Given the description of an element on the screen output the (x, y) to click on. 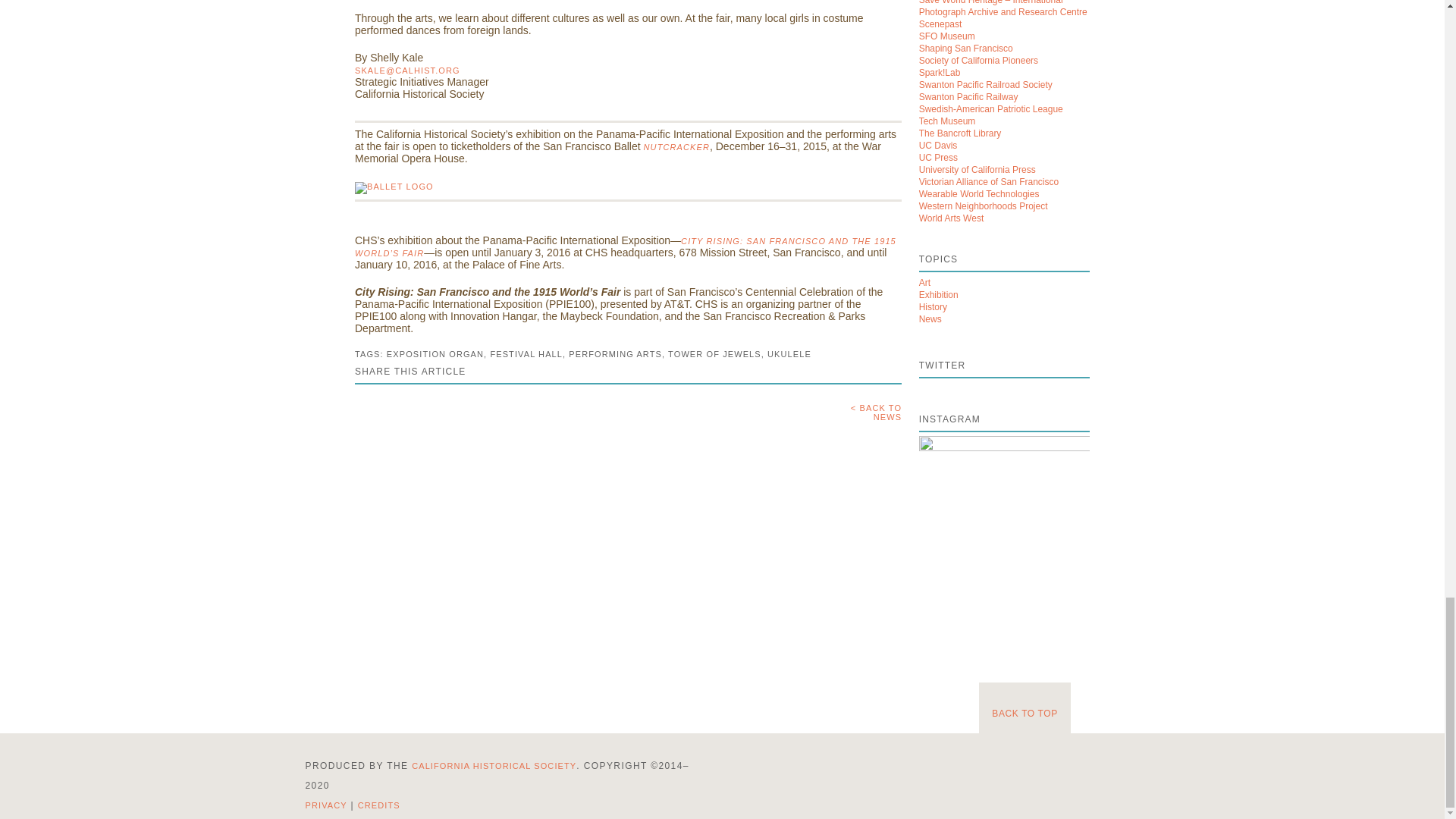
PERFORMING ARTS (615, 353)
EXPOSITION ORGAN (435, 353)
Email This Post (437, 409)
NUTCRACKER (676, 146)
FESTIVAL HALL (525, 353)
Share on Twitter (399, 409)
UKULELE (788, 353)
TOWER OF JEWELS (714, 353)
